Given the description of an element on the screen output the (x, y) to click on. 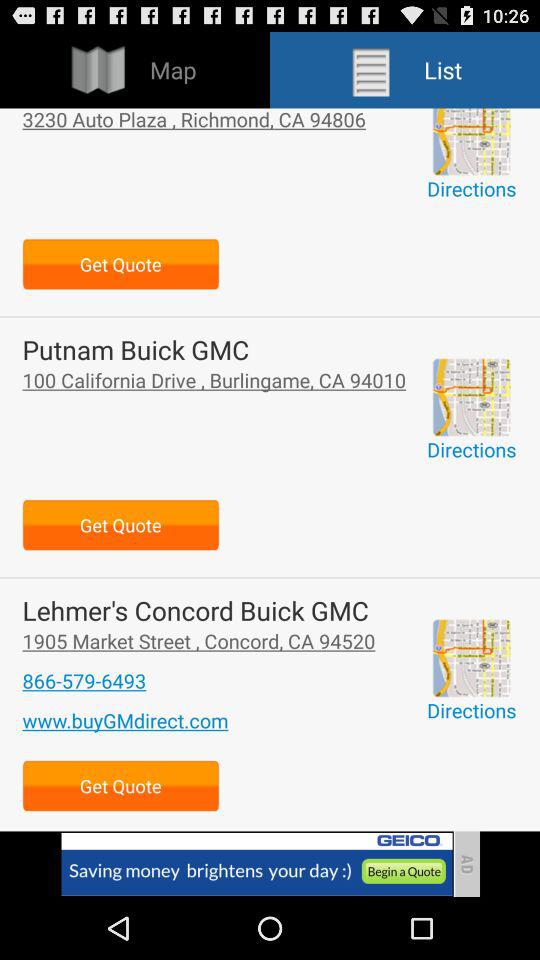
option to get directions (471, 658)
